Given the description of an element on the screen output the (x, y) to click on. 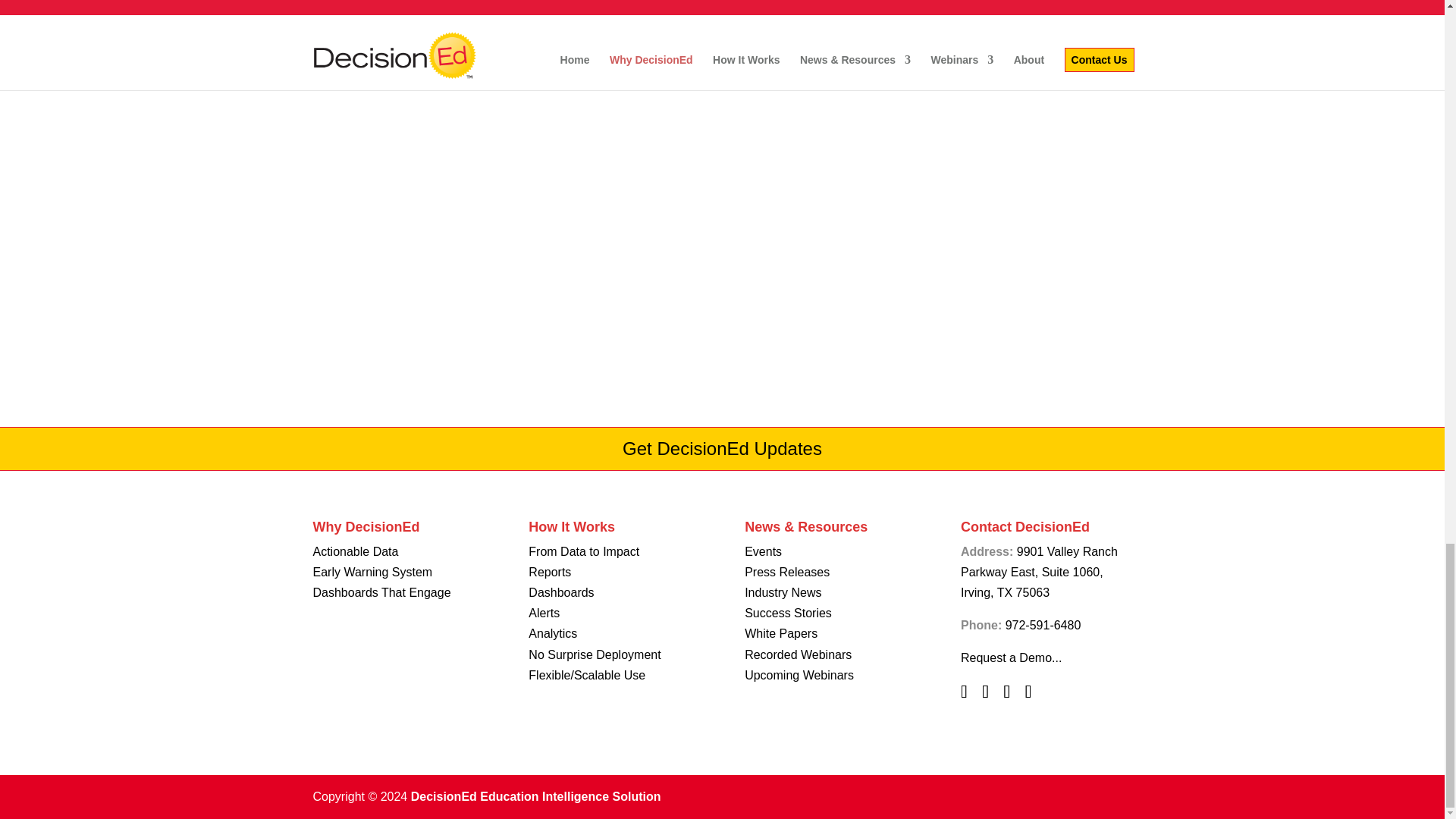
Early Warning System (372, 571)
Dashboards (561, 592)
Reports (549, 571)
From Data to Impact (583, 551)
Get DecisionEd Updates (722, 448)
Dashboards That Engage (381, 592)
Actionable Data (355, 551)
